Given the description of an element on the screen output the (x, y) to click on. 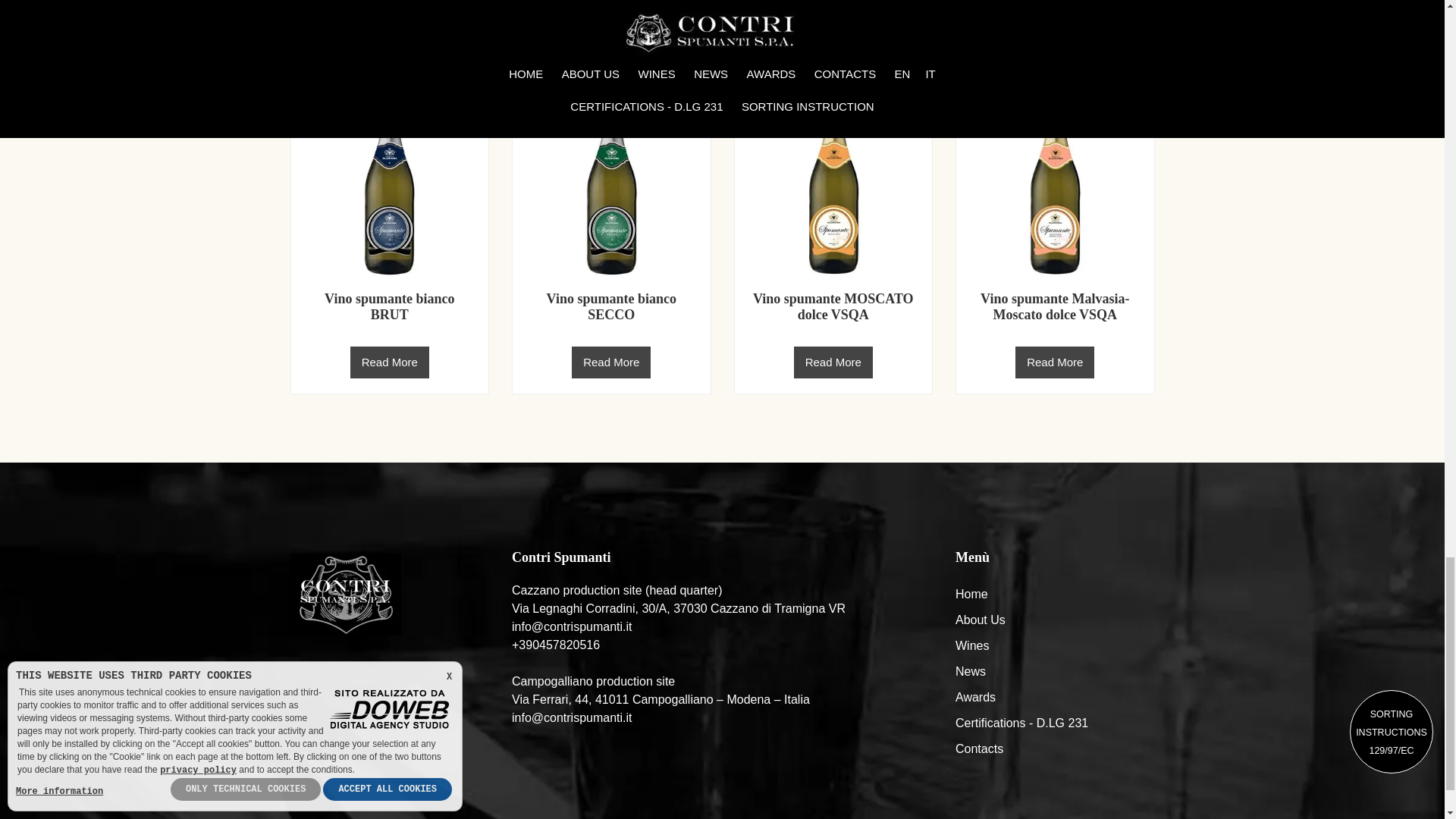
Read More (832, 362)
Read More (611, 362)
Vino spumante Malvasia-Moscato dolce VSQA (1054, 306)
Vino spumante MOSCATO dolce VSQA (833, 306)
Read More (1054, 362)
Read More (389, 362)
Vino spumante bianco BRUT (389, 306)
Vino spumante bianco SECCO (612, 306)
